Given the description of an element on the screen output the (x, y) to click on. 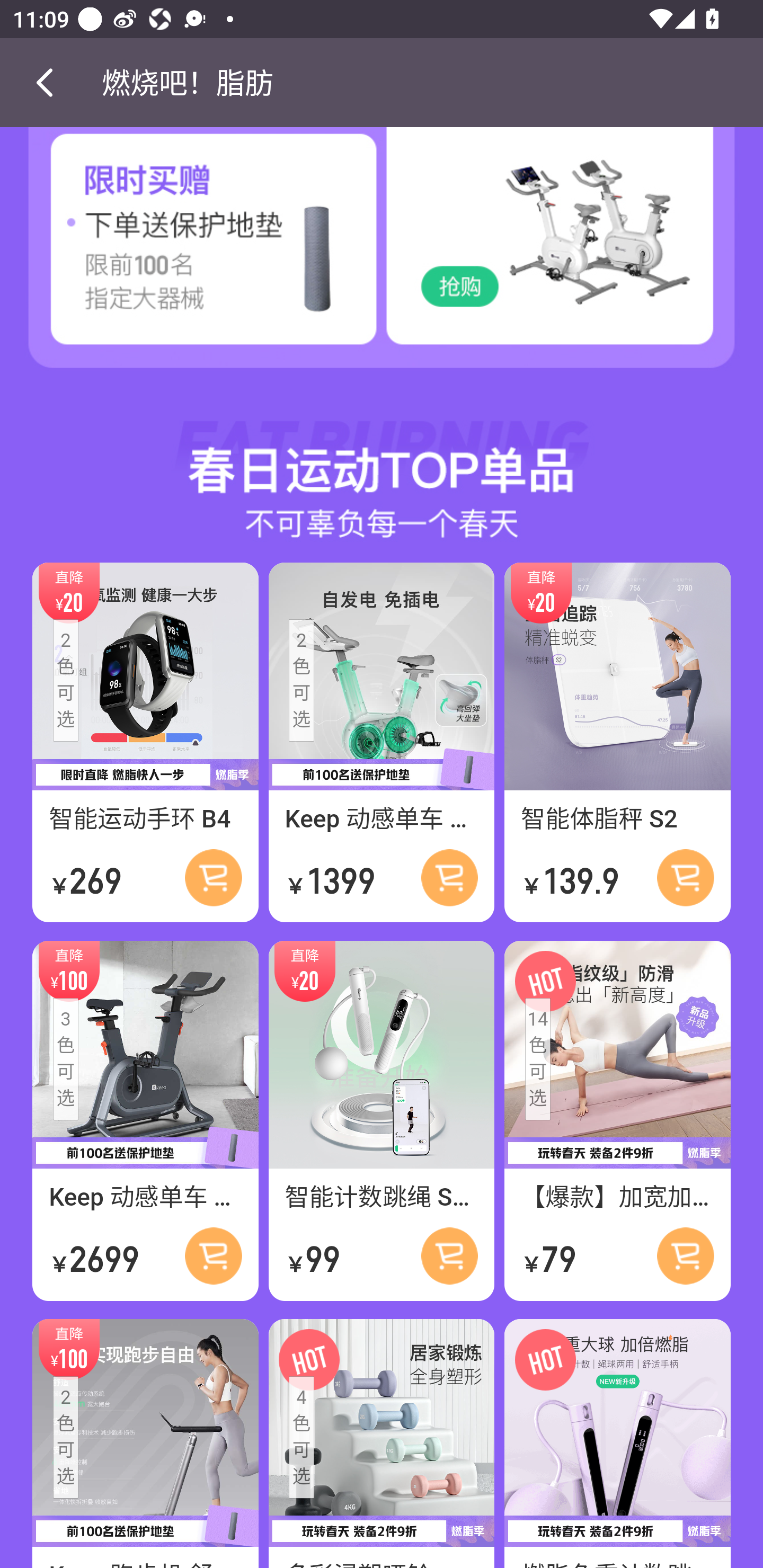
Left Button In Title Bar (50, 82)
1709893563559_375x239 (190, 252)
1709894012951_375x239 (572, 252)
1709893749775_750x168 (381, 457)
直降 ¥20 2色可选 智能运动手环 B4 ￥269 (145, 743)
2色可选 Keep 动感单车 Mini （含自发电版） ￥1399 (381, 743)
直降 ¥20 智能体脂秤 S2 ￥139.9 (616, 743)
直降 ¥100 3色可选 Keep 动感单车 专业版 C1 ￥2699 (145, 1121)
直降 ¥20 智能计数跳绳 SR2 ￥99 (381, 1121)
1617352220003_105x105 14色可选 【爆款】加宽加厚健身垫 ￥79 (616, 1121)
直降 ¥100 2色可选 Keep 跑步机 舒适版 (145, 1443)
1617352220003_105x105 4色可选 多彩浸塑哑铃 (381, 1443)
1617352220003_105x105 燃脂负重计数跳绳 (616, 1443)
